Given the description of an element on the screen output the (x, y) to click on. 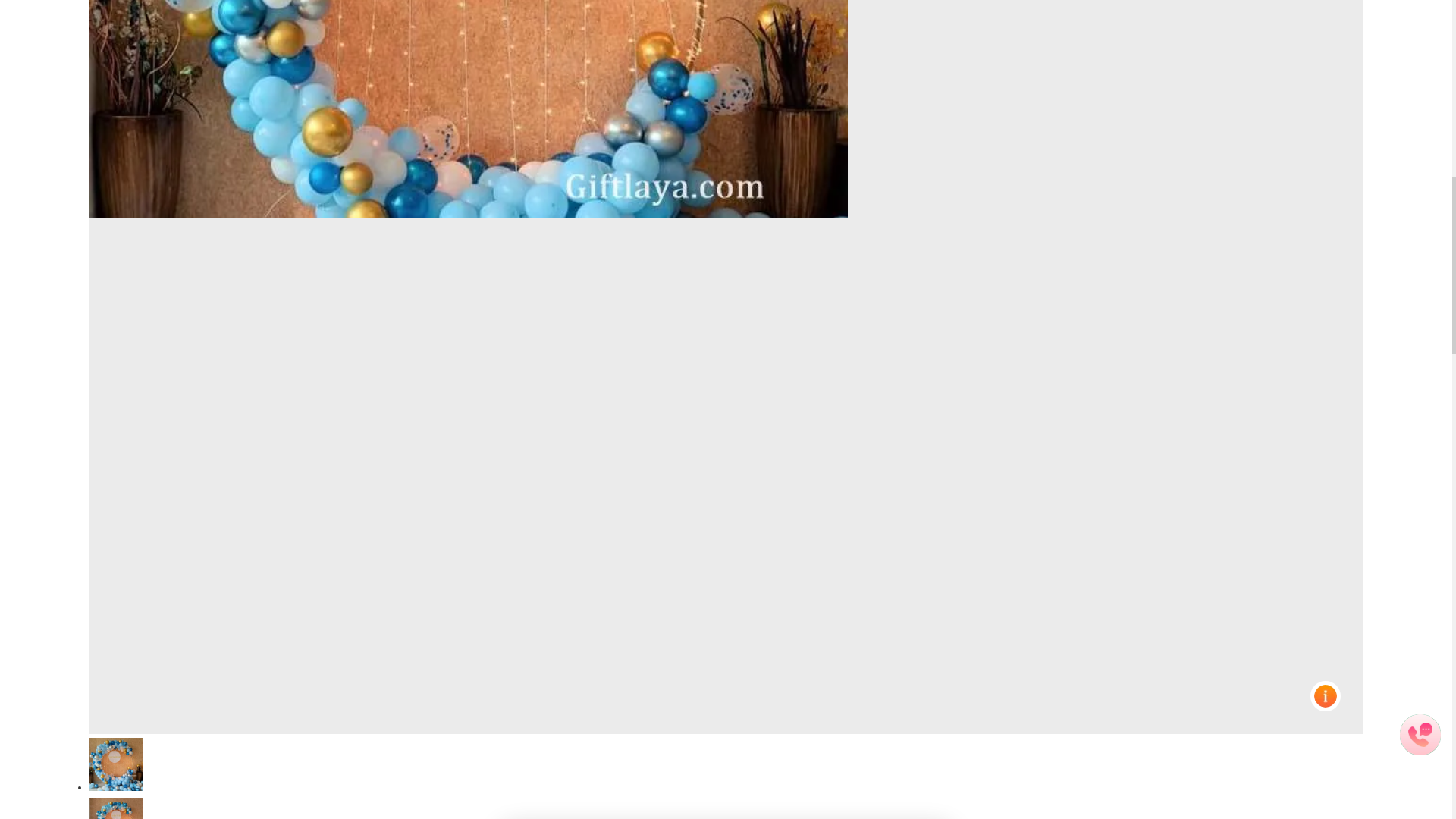
Register (619, 505)
